Given the description of an element on the screen output the (x, y) to click on. 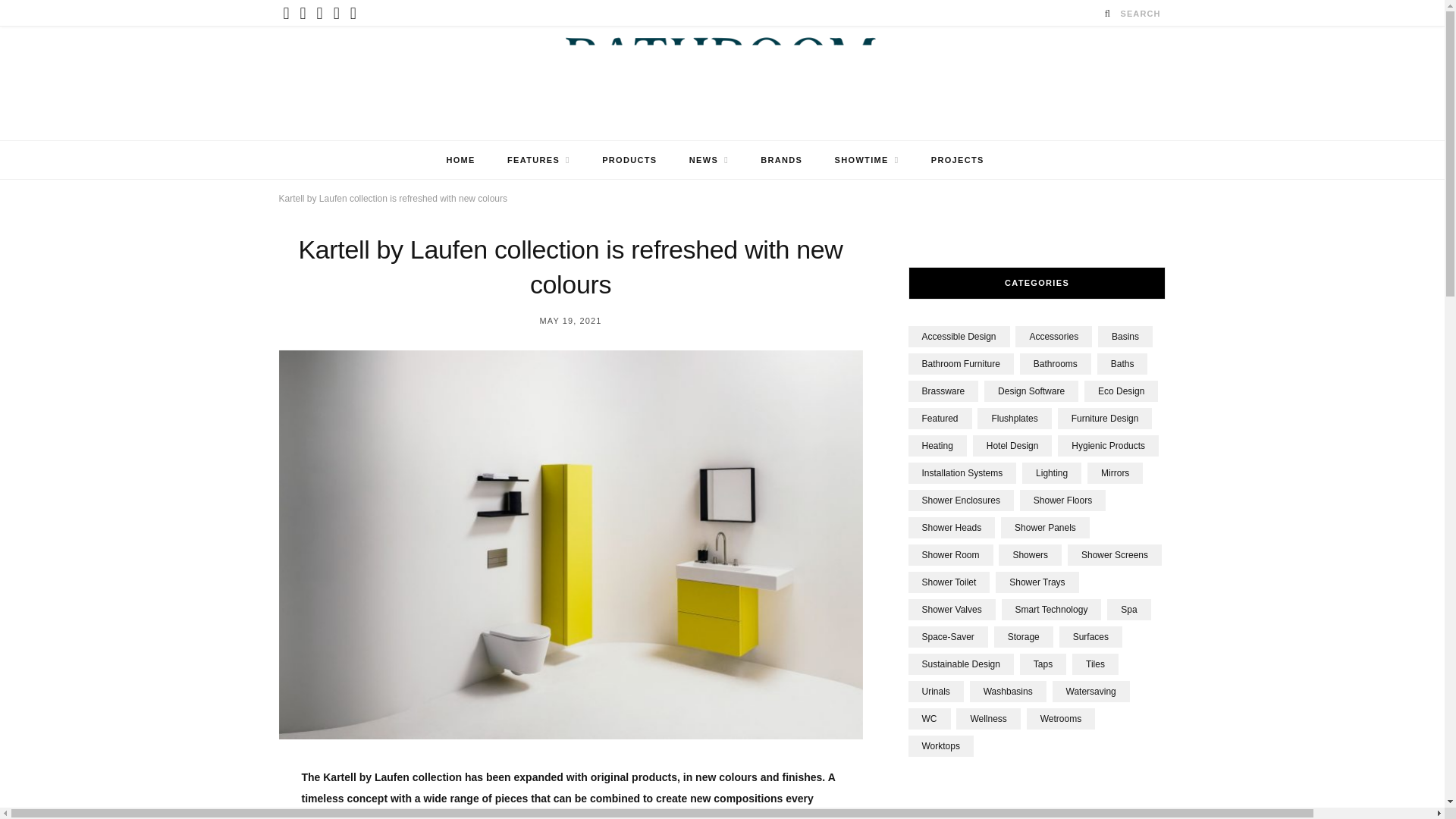
HOME (459, 159)
NEWS (708, 159)
PRODUCTS (629, 159)
Bathroom Review (722, 83)
BRANDS (780, 159)
SHOWTIME (867, 159)
FEATURES (539, 159)
